Given the description of an element on the screen output the (x, y) to click on. 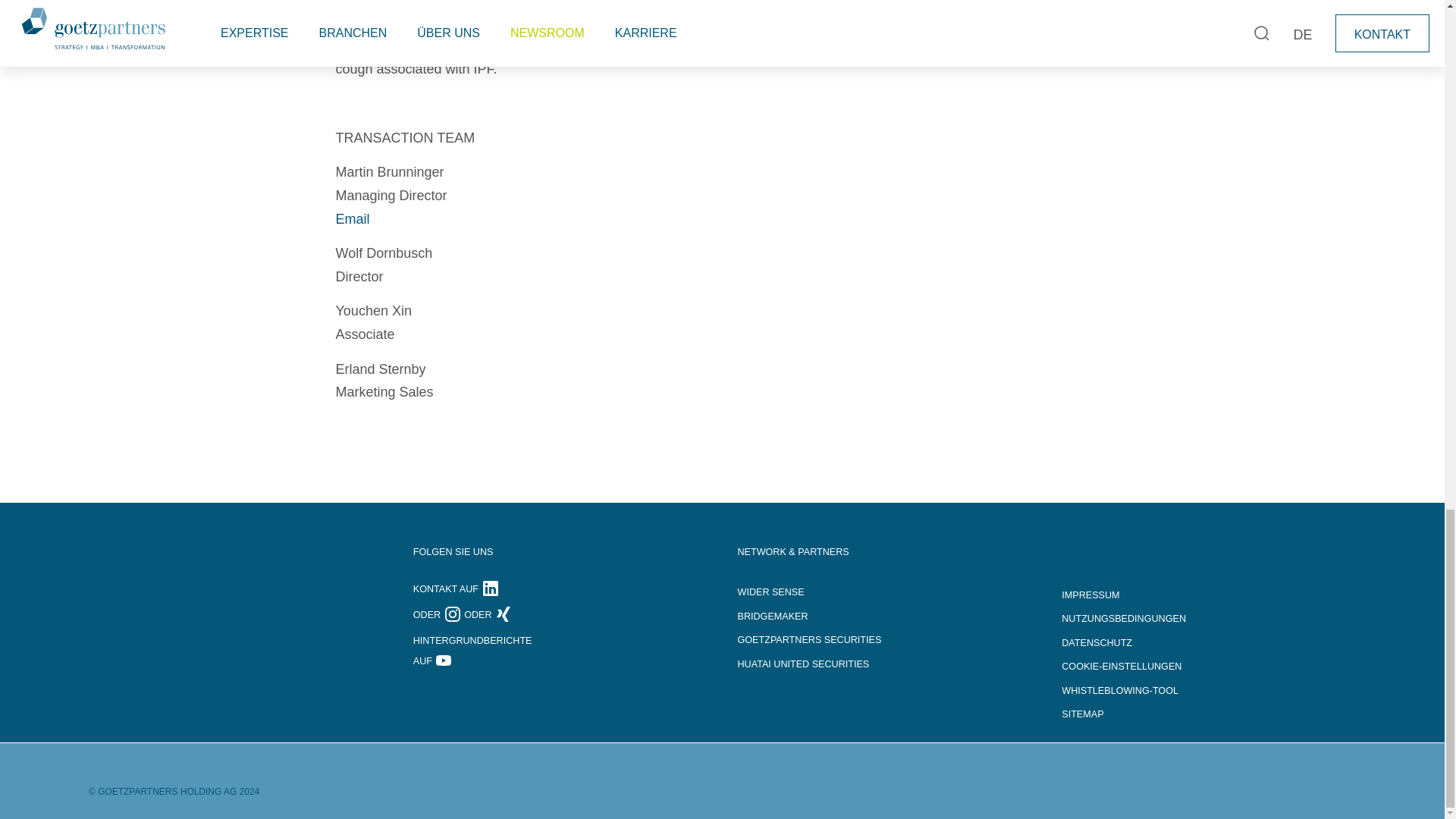
Xing (503, 614)
YouTube (442, 661)
LinkedIn (490, 588)
Instagram (454, 614)
